Given the description of an element on the screen output the (x, y) to click on. 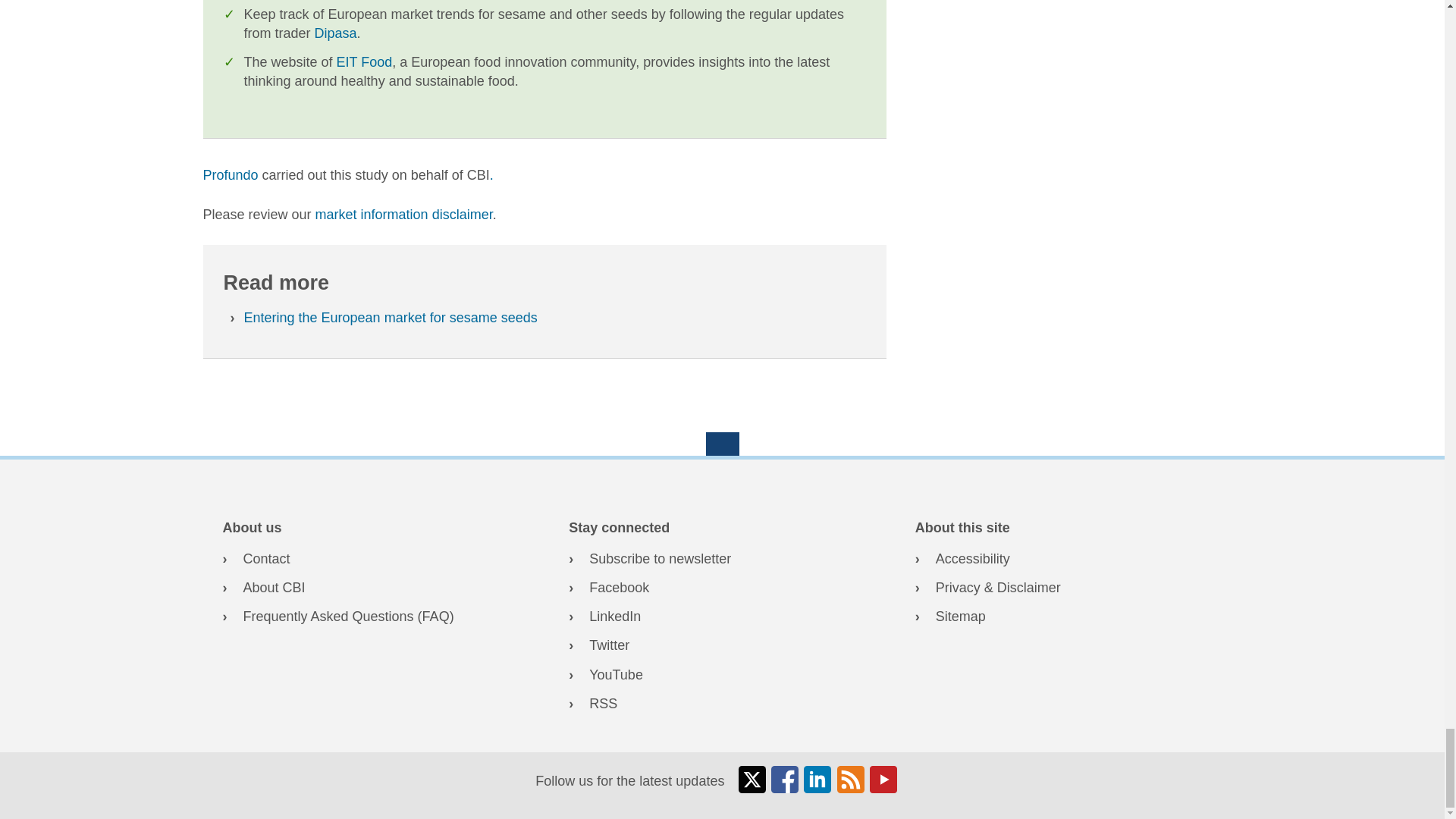
Go to CBI's Facebook channel (722, 587)
Go to CBI's LinkedIn channel (722, 616)
Go to CBI's YouTube channel (722, 674)
Go to CBI's Twitter channel (722, 645)
